Given the description of an element on the screen output the (x, y) to click on. 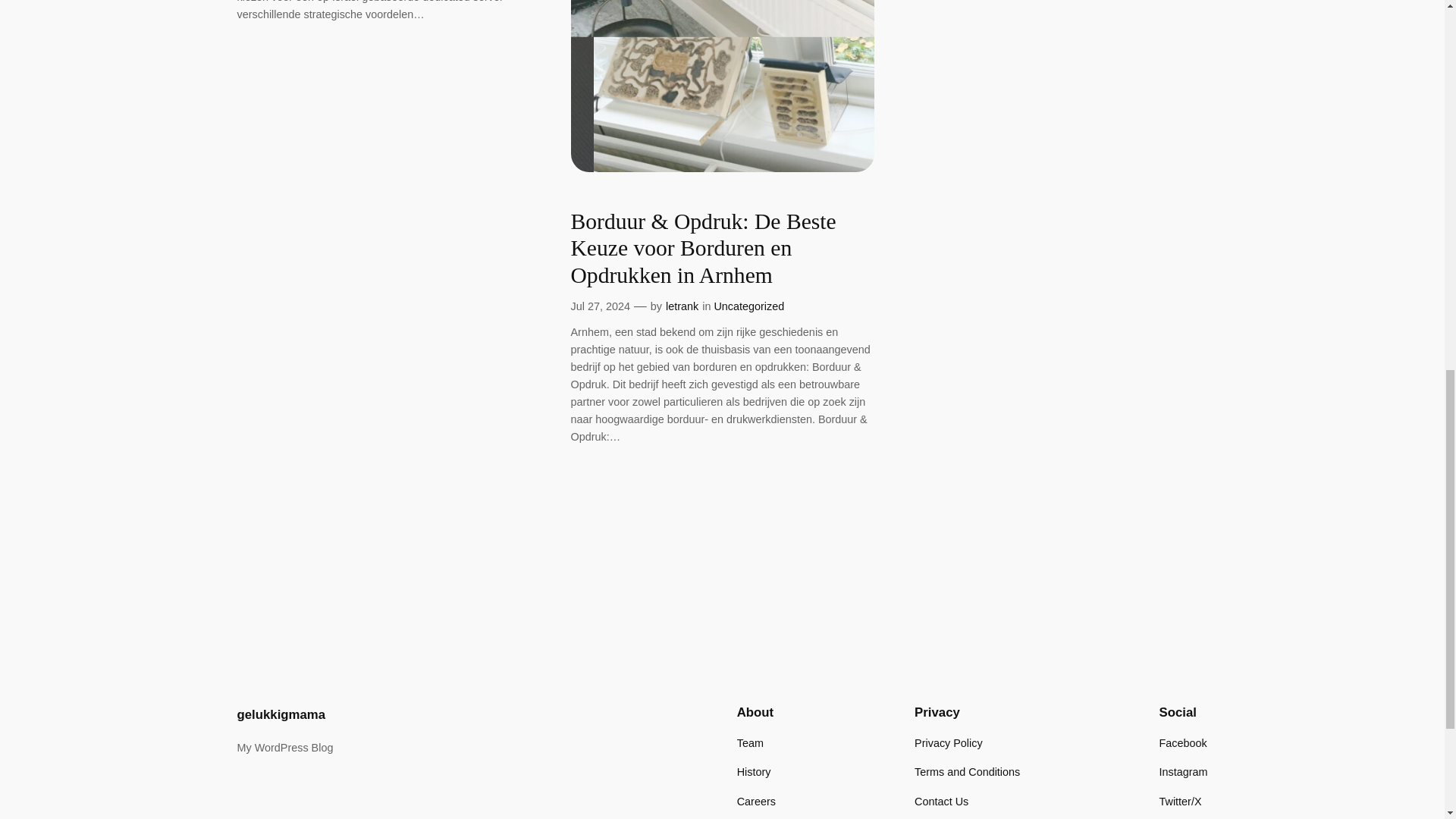
Jul 27, 2024 (599, 306)
Uncategorized (748, 306)
letrank (681, 306)
Privacy Policy (948, 742)
Contact Us (941, 801)
Team (749, 742)
Facebook (1182, 742)
Terms and Conditions (967, 771)
History (753, 771)
Instagram (1182, 771)
